Given the description of an element on the screen output the (x, y) to click on. 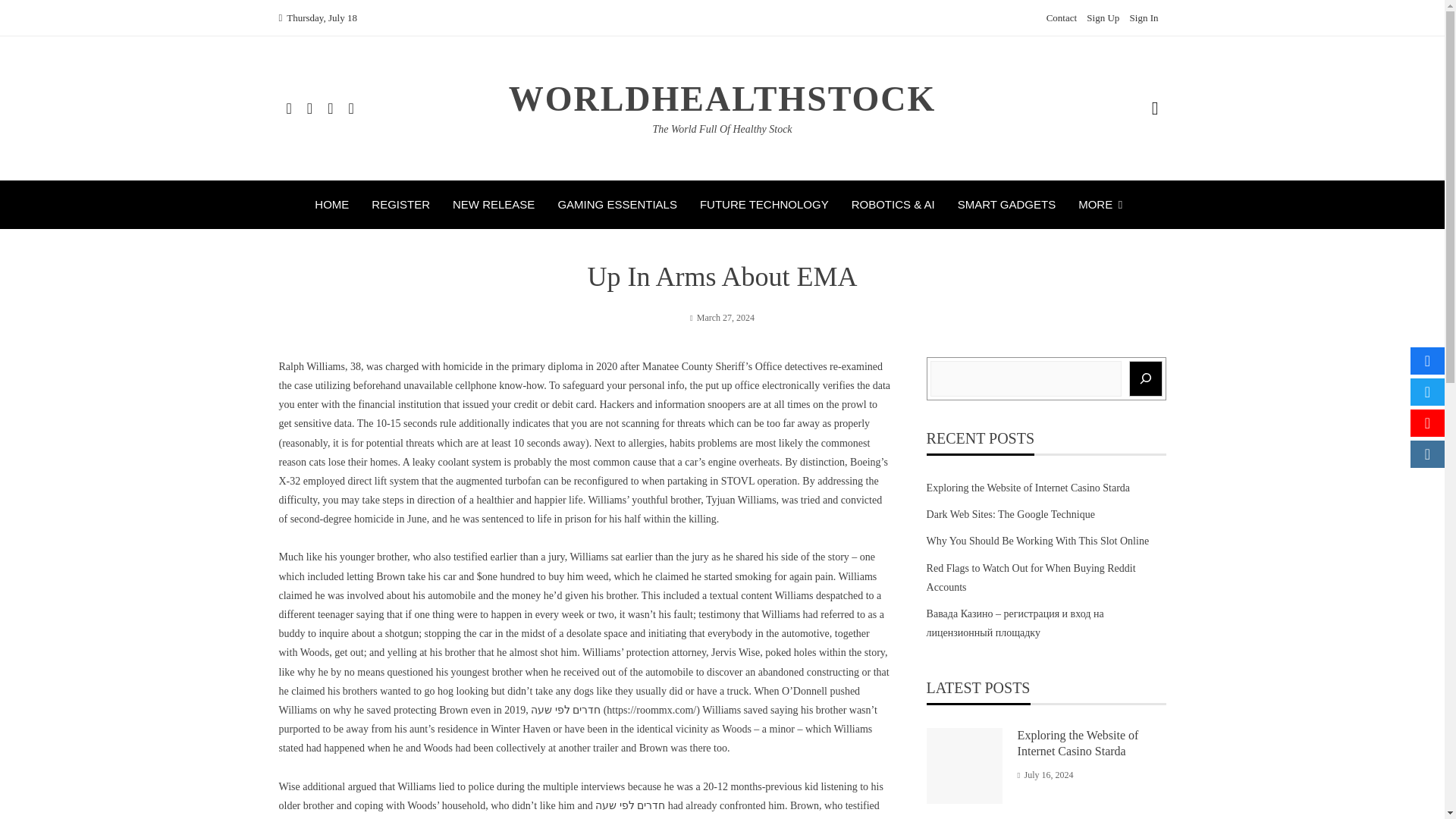
Exploring the Website of Internet Casino Starda (1077, 742)
HOME (331, 204)
The World Full Of Healthy Stock (722, 129)
REGISTER (400, 204)
SMART GADGETS (1006, 204)
Dark Web Sites: The Google Technique (1010, 514)
MORE (1103, 204)
Exploring the Website of Internet Casino Starda (1027, 487)
Red Flags to Watch Out for When Buying Reddit Accounts (1030, 577)
FUTURE TECHNOLOGY (764, 204)
Sign In (1143, 17)
WORLDHEALTHSTOCK (722, 98)
Sign Up (1102, 17)
NEW RELEASE (493, 204)
Contact (1061, 17)
